Given the description of an element on the screen output the (x, y) to click on. 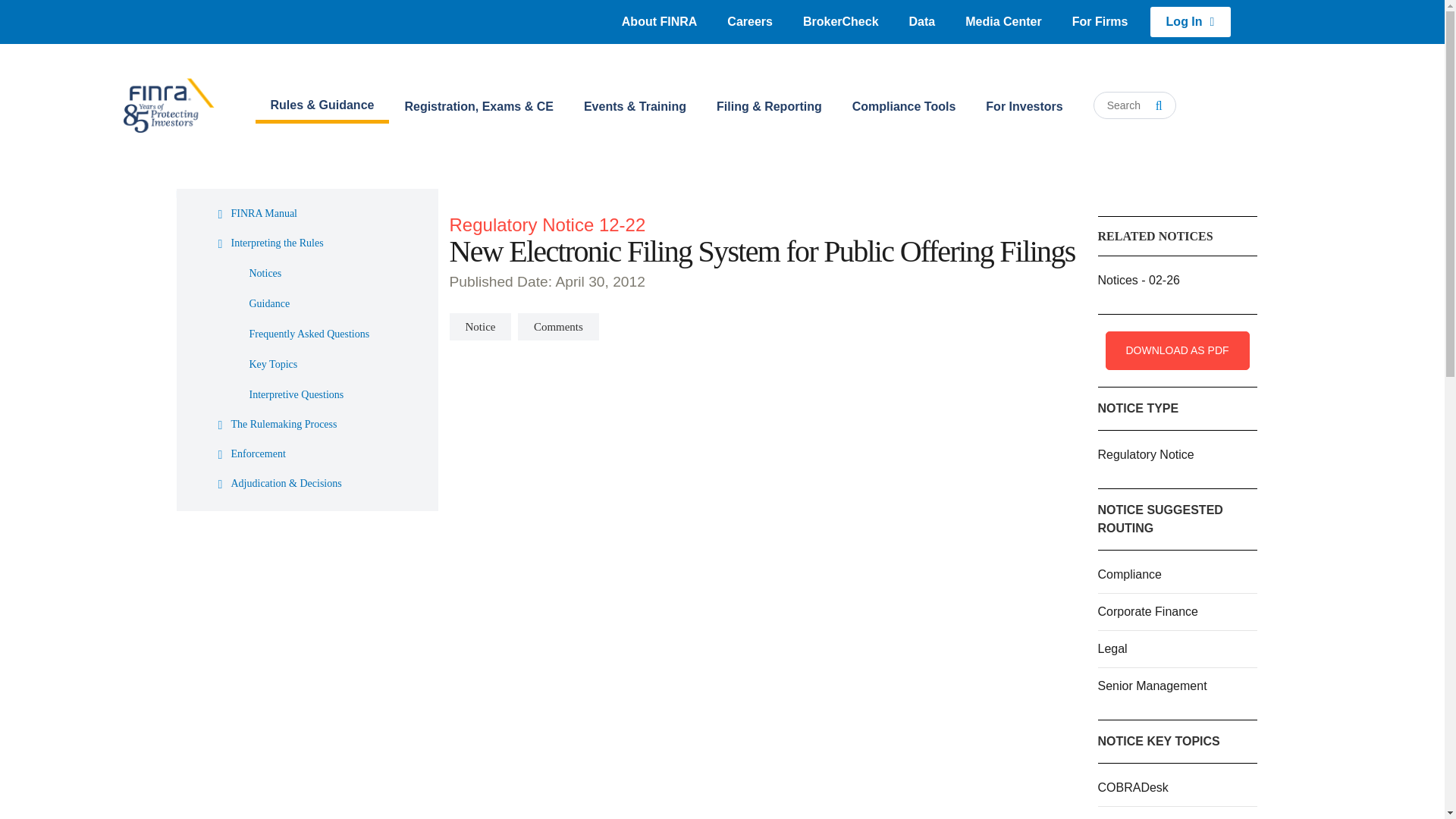
Careers (749, 21)
Media Center (1002, 21)
Home (168, 104)
About FINRA (659, 21)
BrokerCheck (840, 21)
For Firms (1100, 21)
Data (922, 21)
